Given the description of an element on the screen output the (x, y) to click on. 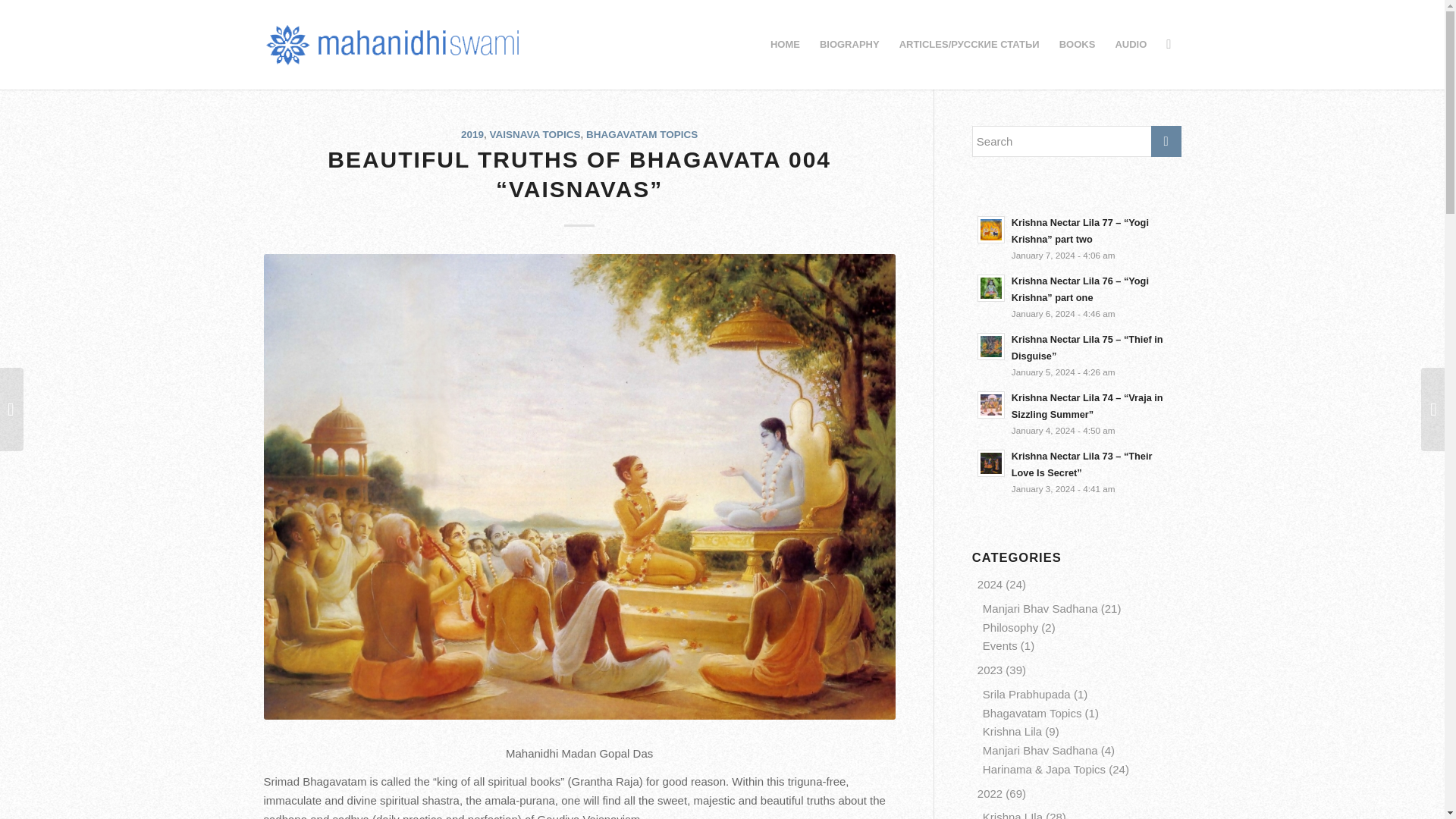
BIOGRAPHY (849, 44)
mahanidhi-swami-radhakund (392, 44)
VAISNAVA TOPICS (534, 134)
BHAGAVATAM TOPICS (641, 134)
2019 (472, 134)
